Given the description of an element on the screen output the (x, y) to click on. 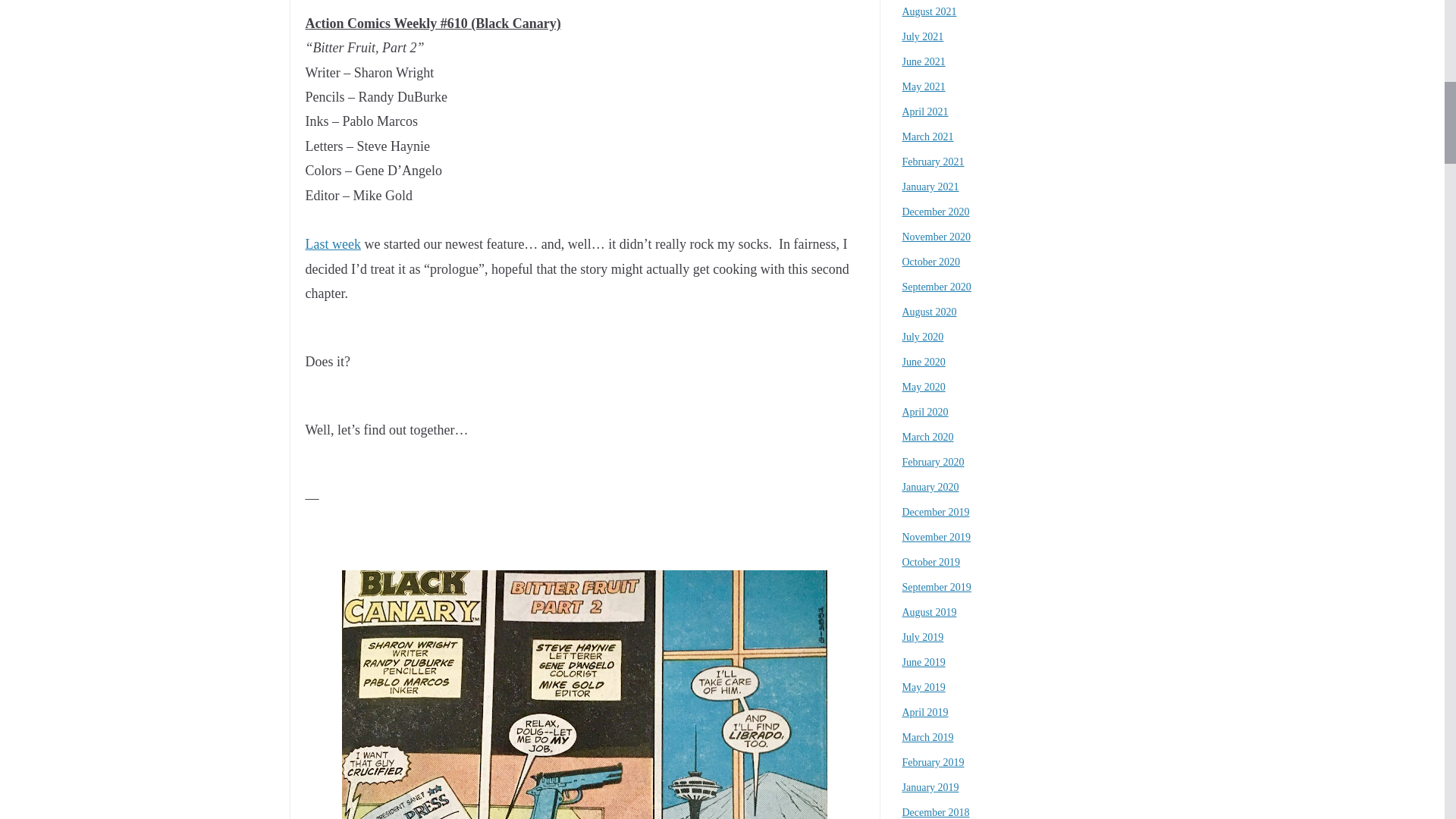
Last week (331, 243)
